Given the description of an element on the screen output the (x, y) to click on. 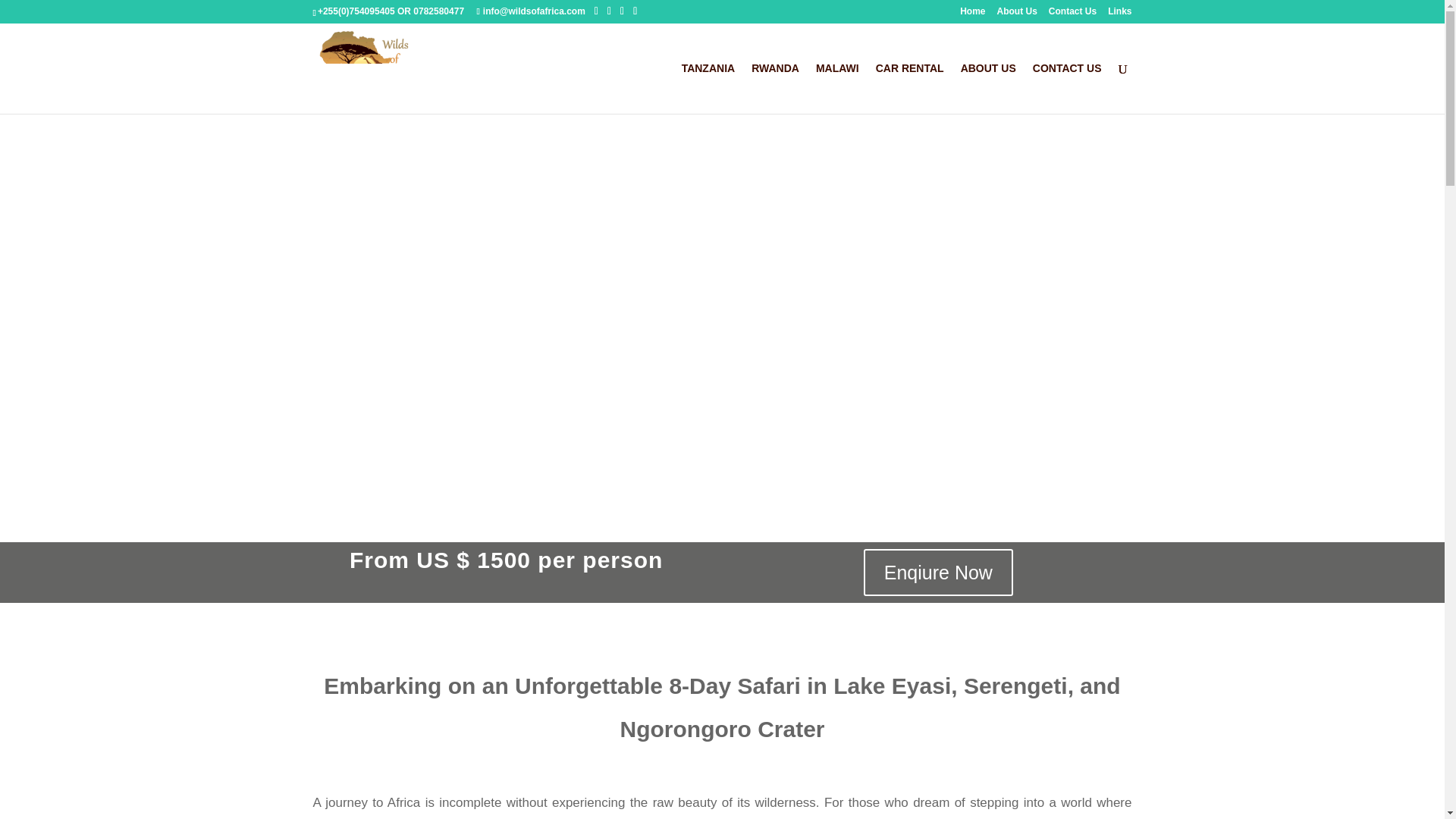
CAR RENTAL (909, 88)
RWANDA (775, 88)
Contact Us (1072, 14)
Links (1119, 14)
ABOUT US (988, 88)
About Us (1015, 14)
CONTACT US (1067, 88)
MALAWI (837, 88)
Home (972, 14)
TANZANIA (708, 88)
Enqiure Now (938, 572)
